Given the description of an element on the screen output the (x, y) to click on. 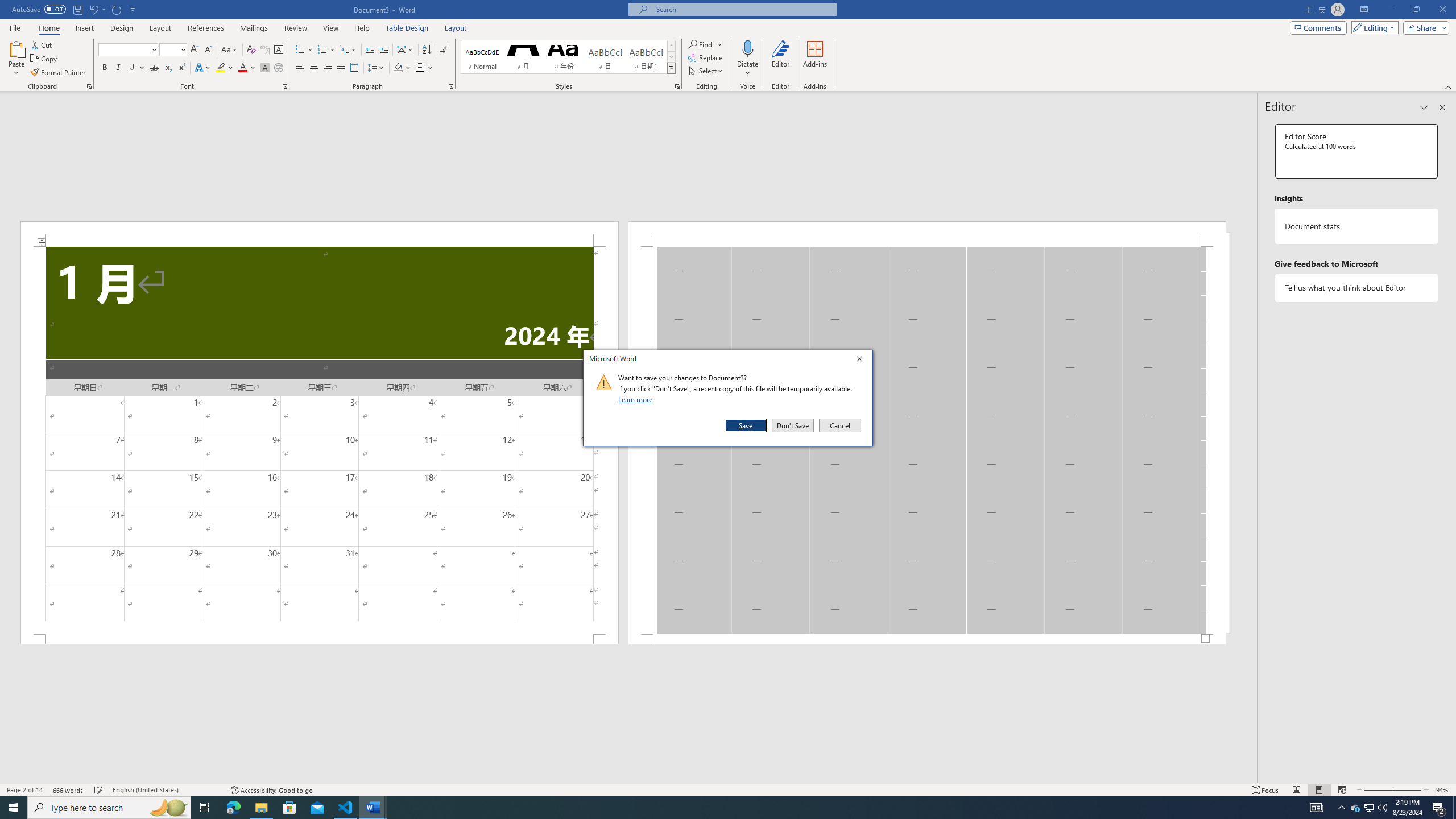
Mailings (253, 28)
Home (48, 28)
Review (295, 28)
Focus  (1265, 790)
File Explorer - 1 running window (261, 807)
Document statistics (1356, 226)
Format Painter (58, 72)
Styles... (676, 85)
Accessibility Checker Accessibility: Good to go (271, 790)
Numbering (322, 49)
Start (13, 807)
Row up (670, 45)
Numbering (326, 49)
Search highlights icon opens search home window (167, 807)
Design (122, 28)
